Given the description of an element on the screen output the (x, y) to click on. 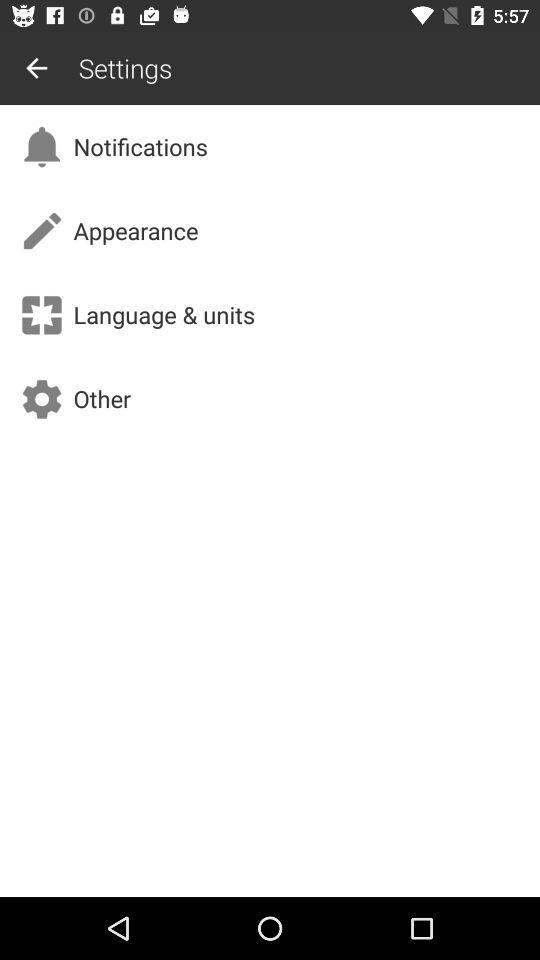
turn on icon next to the settings (36, 68)
